Given the description of an element on the screen output the (x, y) to click on. 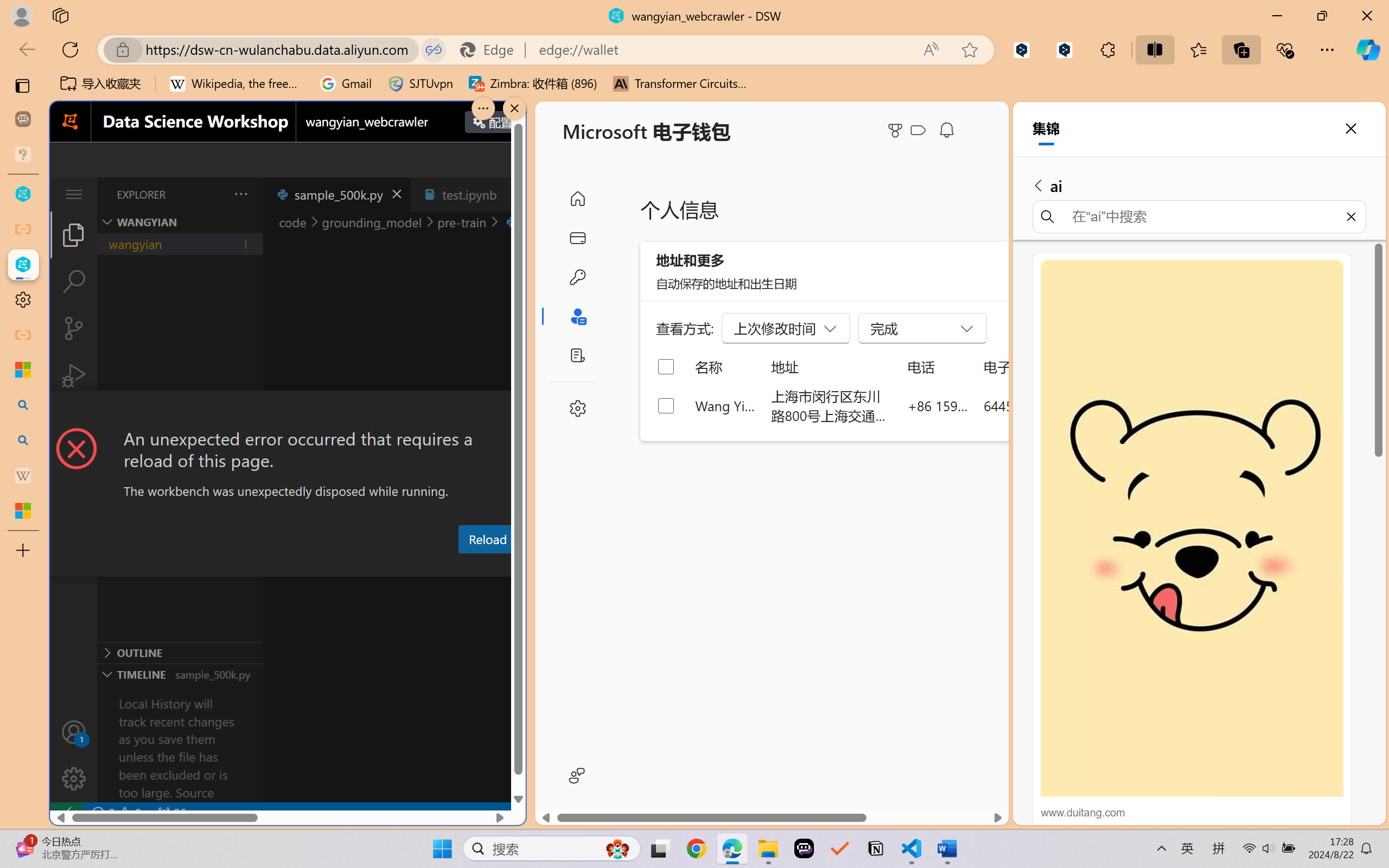
Wikipedia, the free encyclopedia (236, 83)
Close Dialog (520, 410)
wangyian_dsw - DSW (22, 194)
Explorer (Ctrl+Shift+E) (73, 234)
Edge (492, 49)
